Given the description of an element on the screen output the (x, y) to click on. 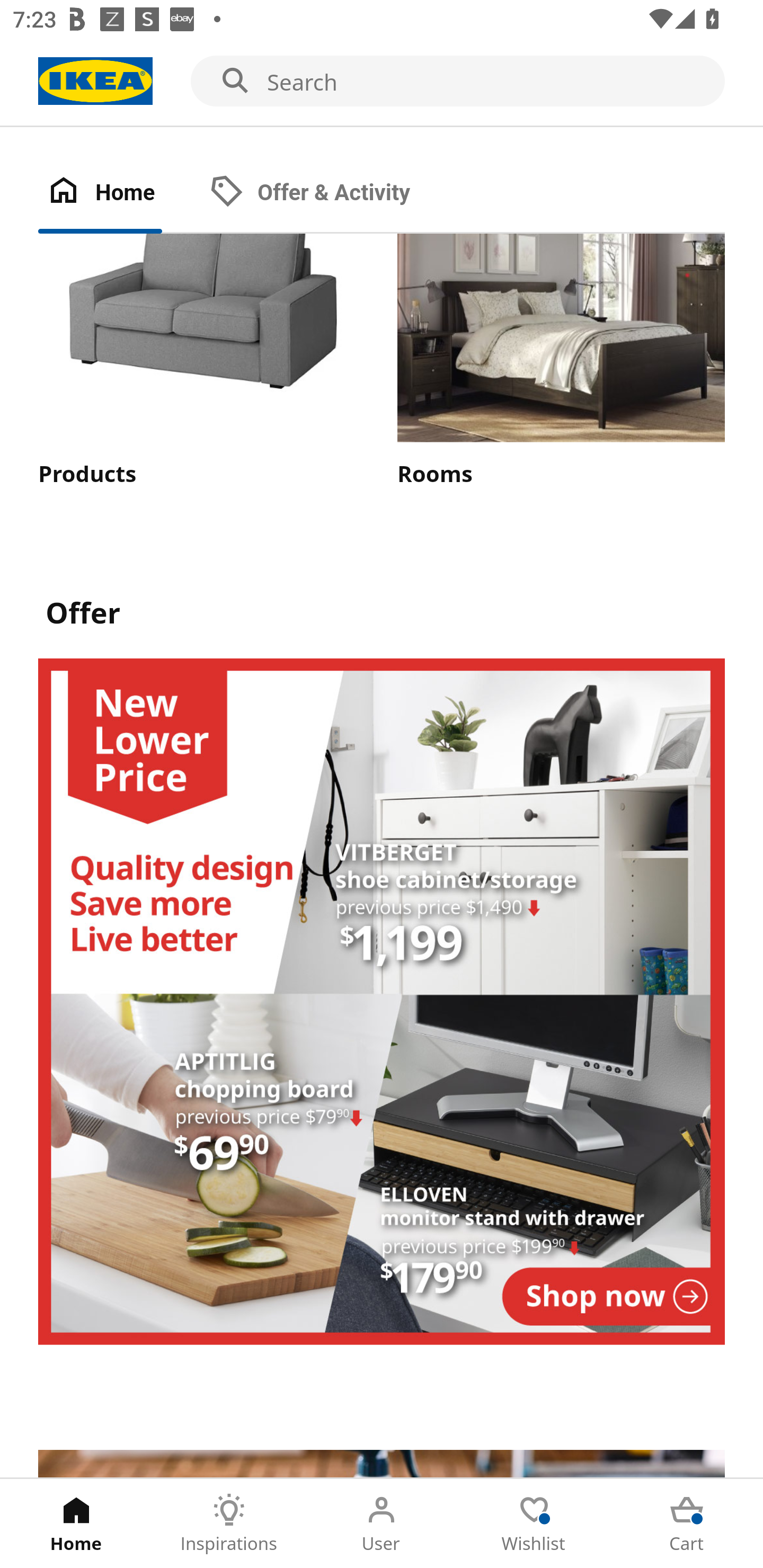
Search (381, 81)
Home
Tab 1 of 2 (118, 192)
Offer & Activity
Tab 2 of 2 (327, 192)
Products (201, 361)
Rooms (560, 361)
Home
Tab 1 of 5 (76, 1522)
Inspirations
Tab 2 of 5 (228, 1522)
User
Tab 3 of 5 (381, 1522)
Wishlist
Tab 4 of 5 (533, 1522)
Cart
Tab 5 of 5 (686, 1522)
